Given the description of an element on the screen output the (x, y) to click on. 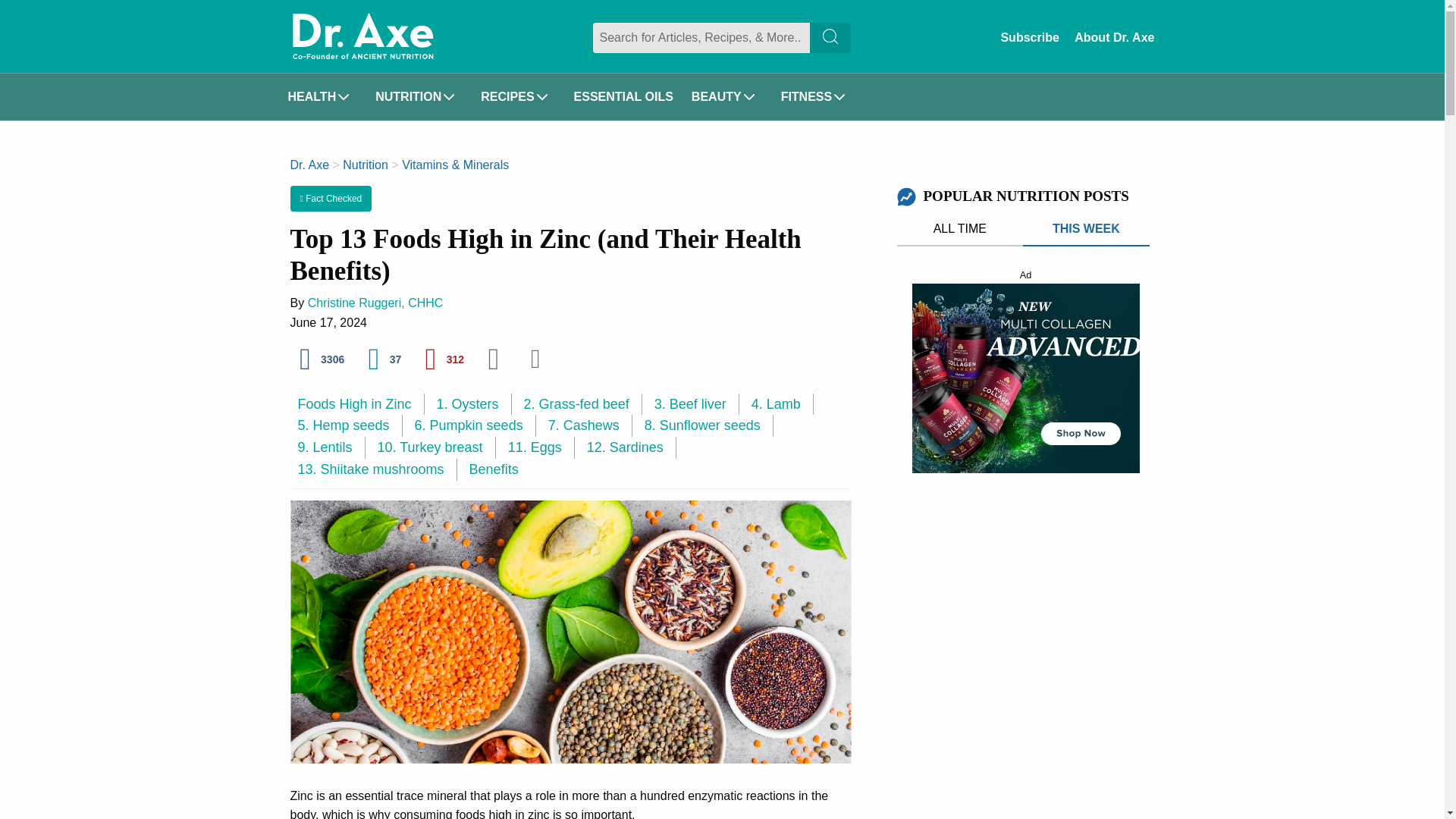
3. Beef liver (696, 404)
HEALTH (322, 96)
9. Lentils (331, 447)
4. Lamb (782, 404)
RECIPES (517, 96)
1. Oysters (474, 404)
Foods High in Zinc (360, 404)
About Dr. Axe (1114, 37)
Go to Dr. Axe. (309, 164)
2. Grass-fed beef (583, 404)
